Given the description of an element on the screen output the (x, y) to click on. 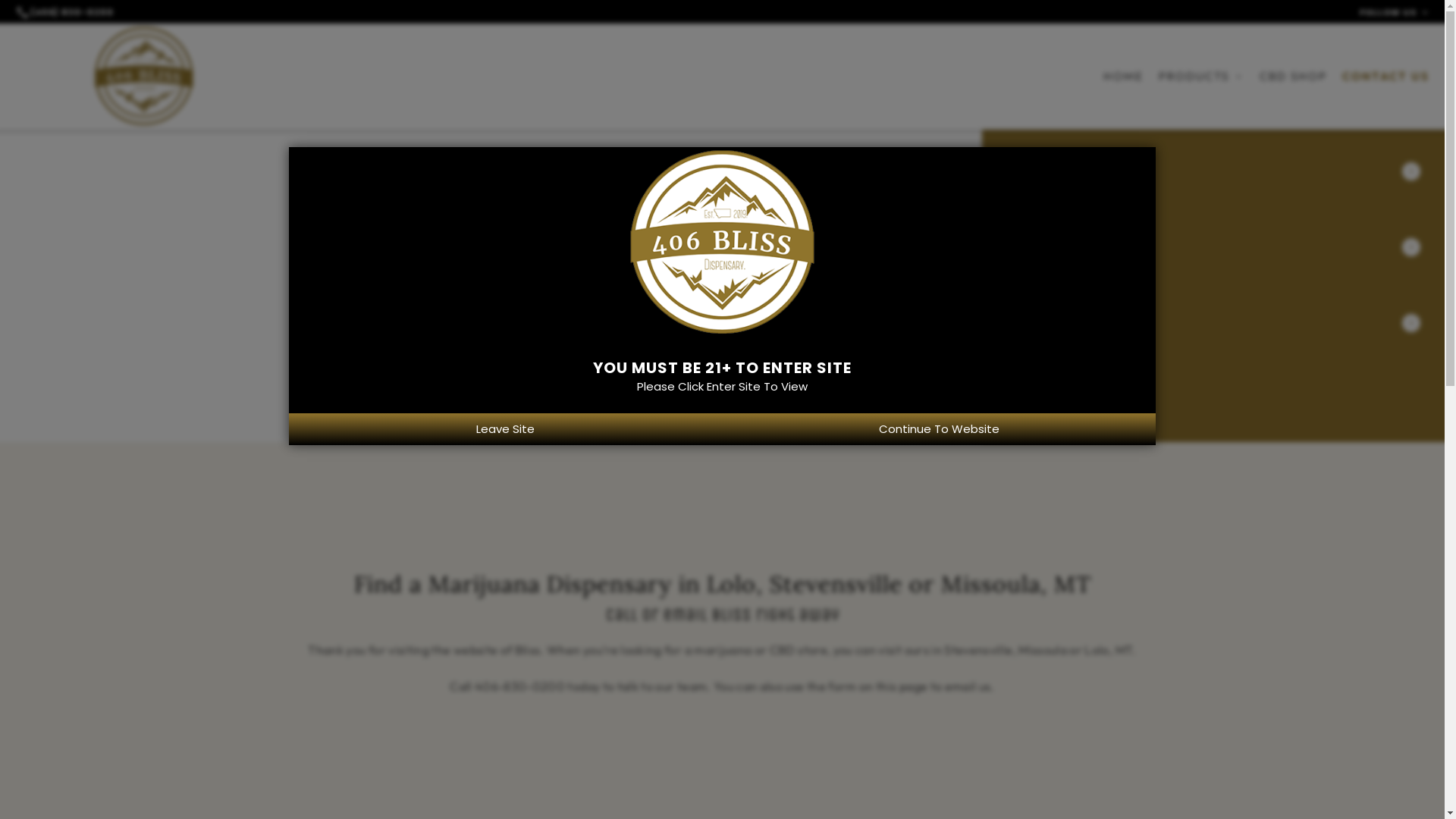
See Details Element type: hover (1411, 247)
(406) 830-0200 Element type: hover (66, 11)
CONTACT US Element type: text (1385, 76)
GET DIRECTIONS Element type: text (1031, 205)
See Details Element type: hover (1411, 171)
CBD SHOP Element type: text (1293, 76)
GET DIRECTIONS Element type: text (1031, 281)
HOME Element type: text (1123, 76)
GET DIRECTIONS Element type: text (1031, 357)
See Details Element type: hover (1411, 322)
Leave Site Element type: text (505, 429)
